Given the description of an element on the screen output the (x, y) to click on. 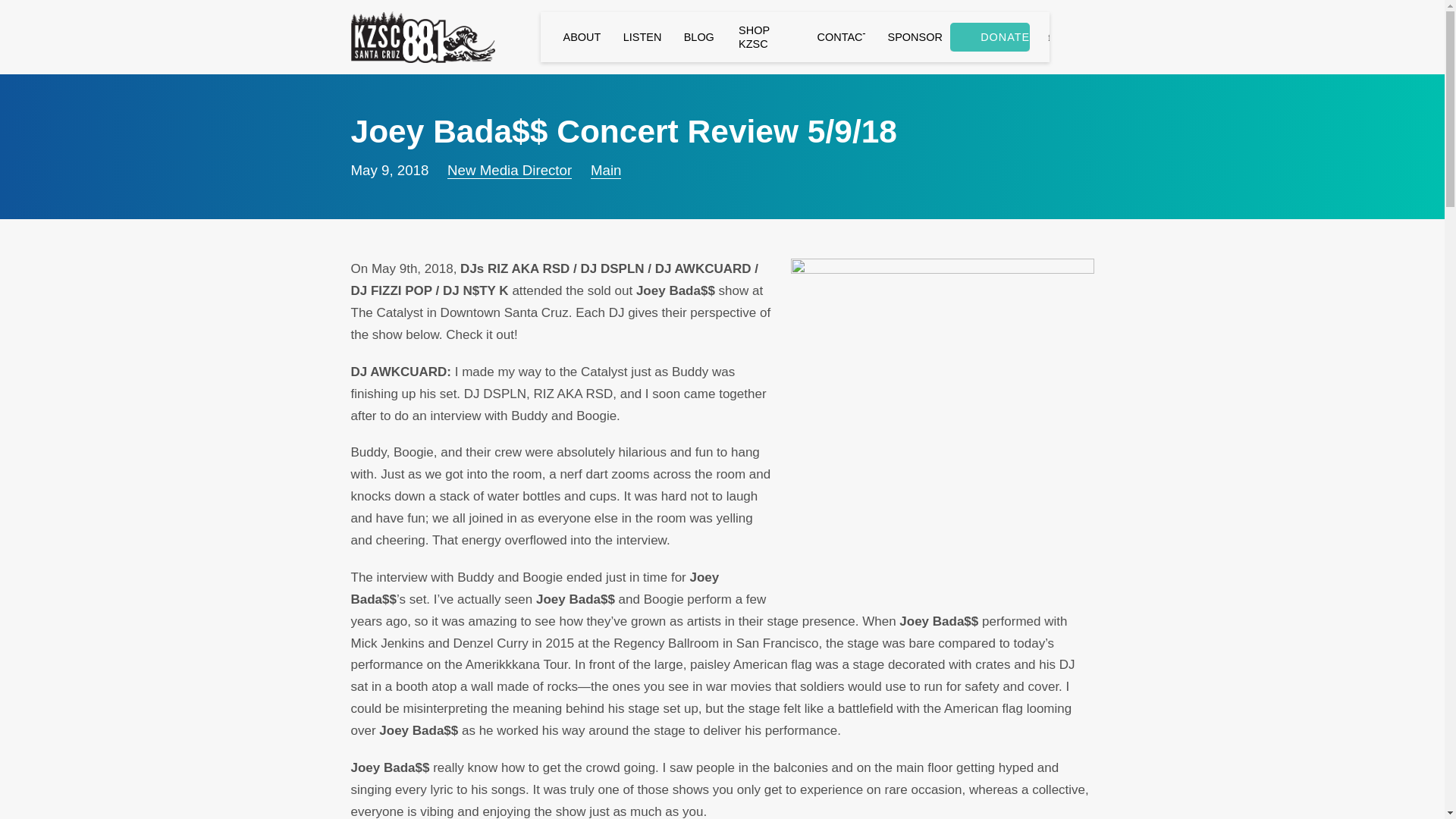
New Media Director (509, 170)
LISTEN (630, 36)
ABOUT (569, 36)
CONTACT (829, 36)
DONATE (989, 36)
Main (606, 170)
SPONSORS (903, 36)
Posts by New Media Director (509, 170)
BLOG (688, 36)
SHOP KZSC (754, 37)
